Given the description of an element on the screen output the (x, y) to click on. 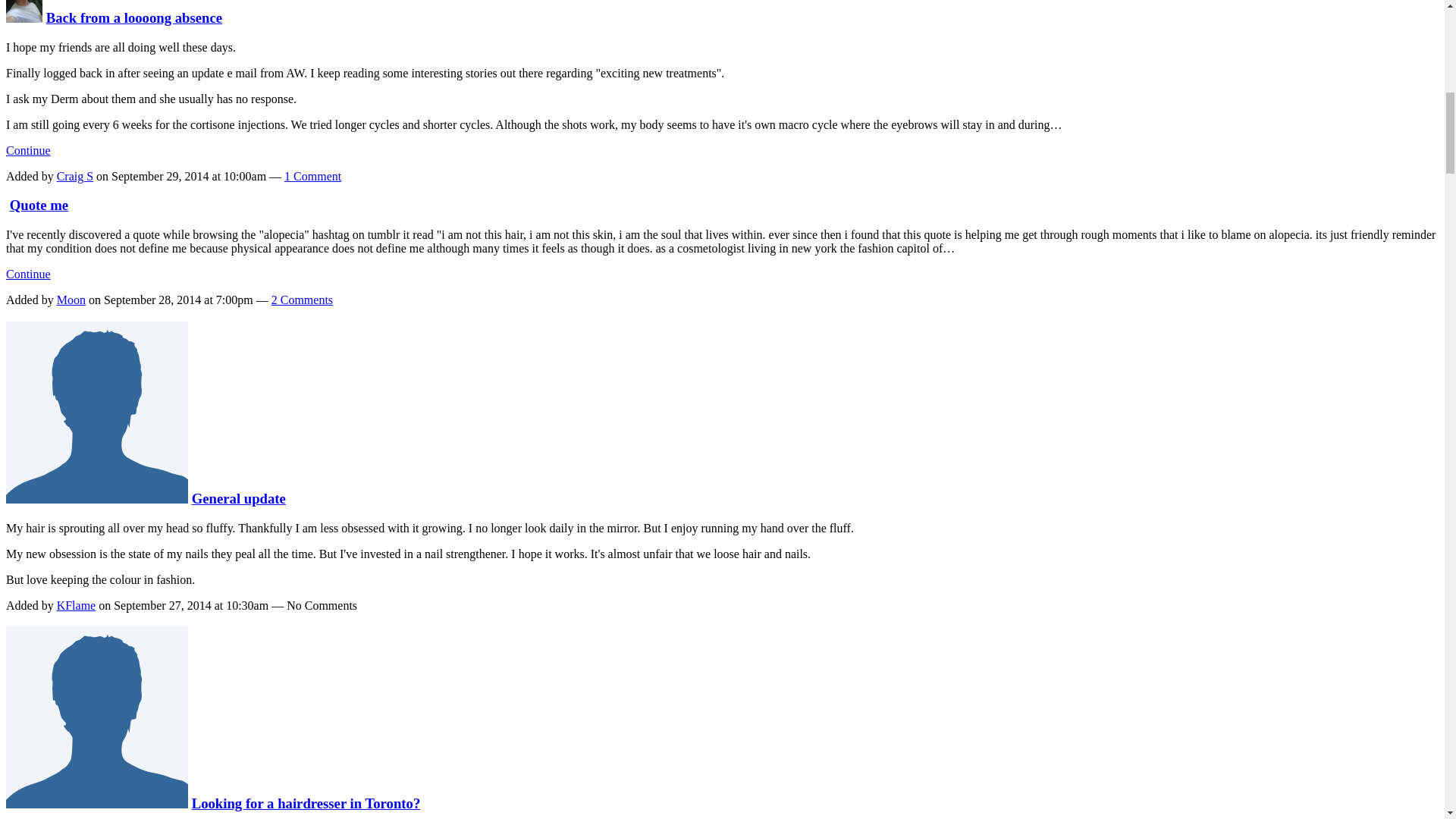
Quote me (39, 204)
KFlame (96, 498)
Craig S (74, 175)
1 Comment (311, 175)
Moon (70, 299)
Back from a loooong absence (134, 17)
Christopher (96, 803)
General update (238, 498)
Continue (27, 273)
2 Comments (301, 299)
Continue (27, 150)
Craig S (23, 17)
KFlame (76, 604)
Looking for a hairdresser in Toronto? (306, 803)
